Given the description of an element on the screen output the (x, y) to click on. 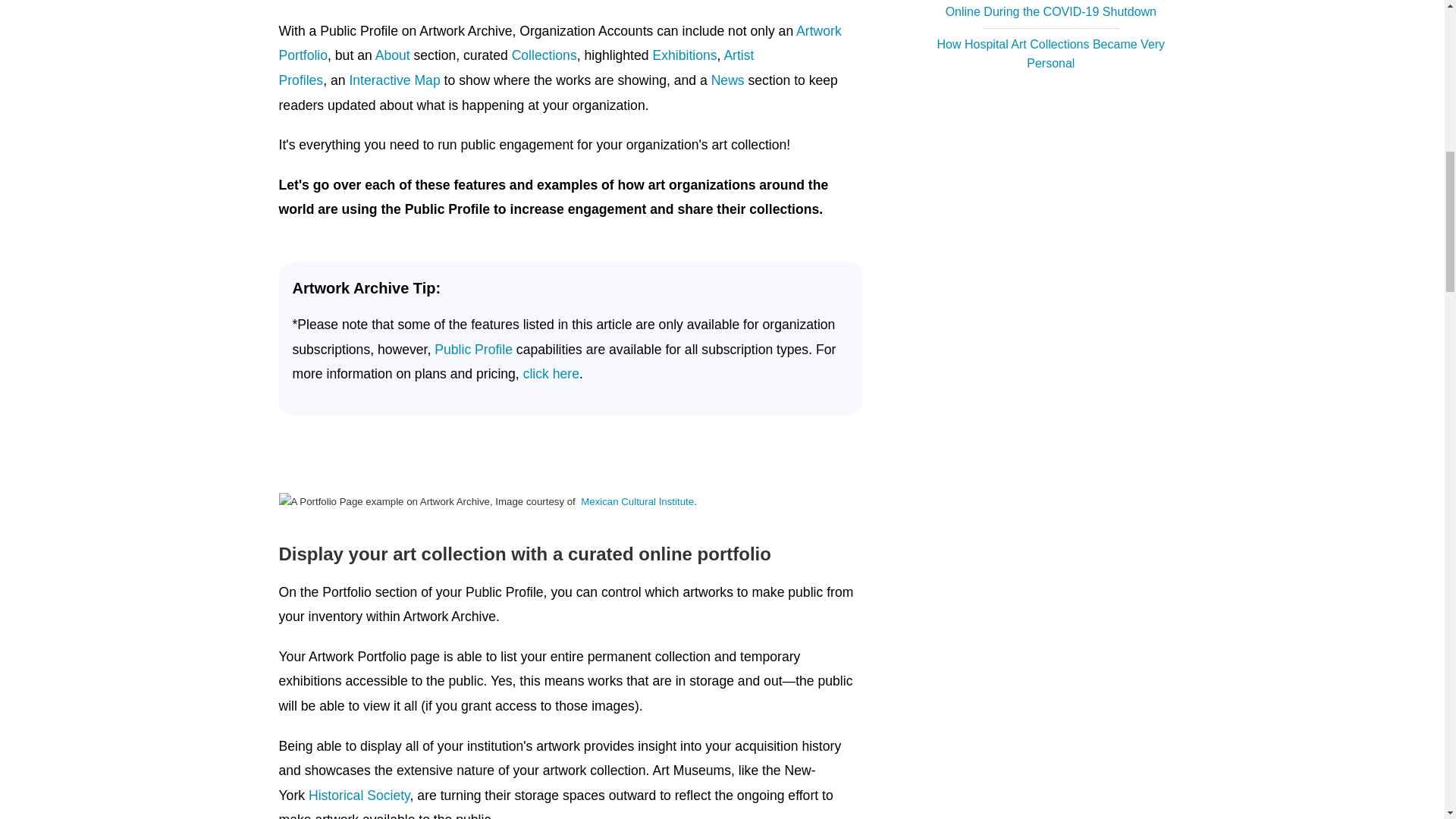
About (392, 55)
Collections (544, 55)
Exhibitions (684, 55)
Artist Profiles (516, 67)
Artwork Portfolio (560, 43)
